Given the description of an element on the screen output the (x, y) to click on. 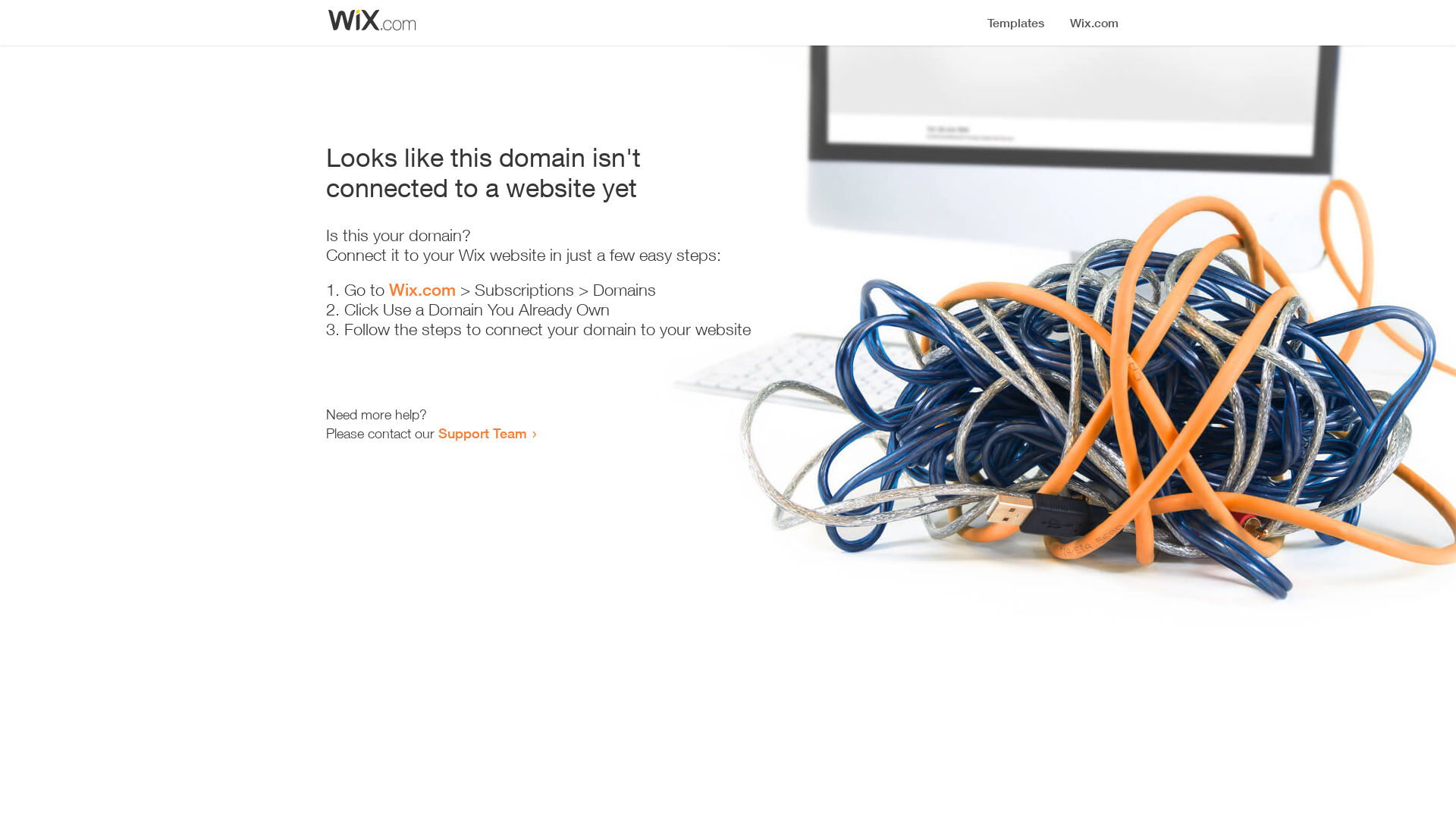
Support Team Element type: text (482, 432)
Wix.com Element type: text (422, 289)
